Given the description of an element on the screen output the (x, y) to click on. 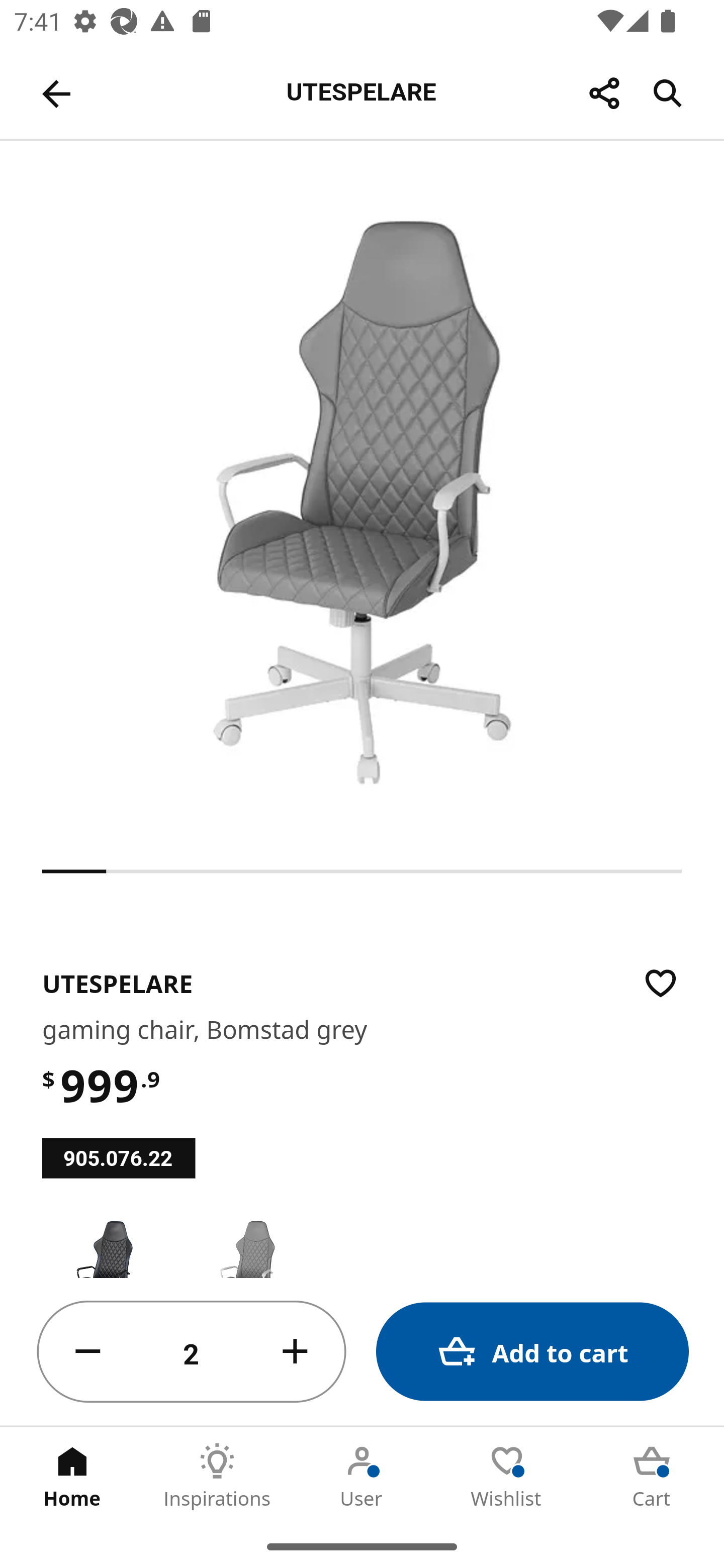
Add to cart (531, 1352)
2 (191, 1352)
Home
Tab 1 of 5 (72, 1476)
Inspirations
Tab 2 of 5 (216, 1476)
User
Tab 3 of 5 (361, 1476)
Wishlist
Tab 4 of 5 (506, 1476)
Cart
Tab 5 of 5 (651, 1476)
